Given the description of an element on the screen output the (x, y) to click on. 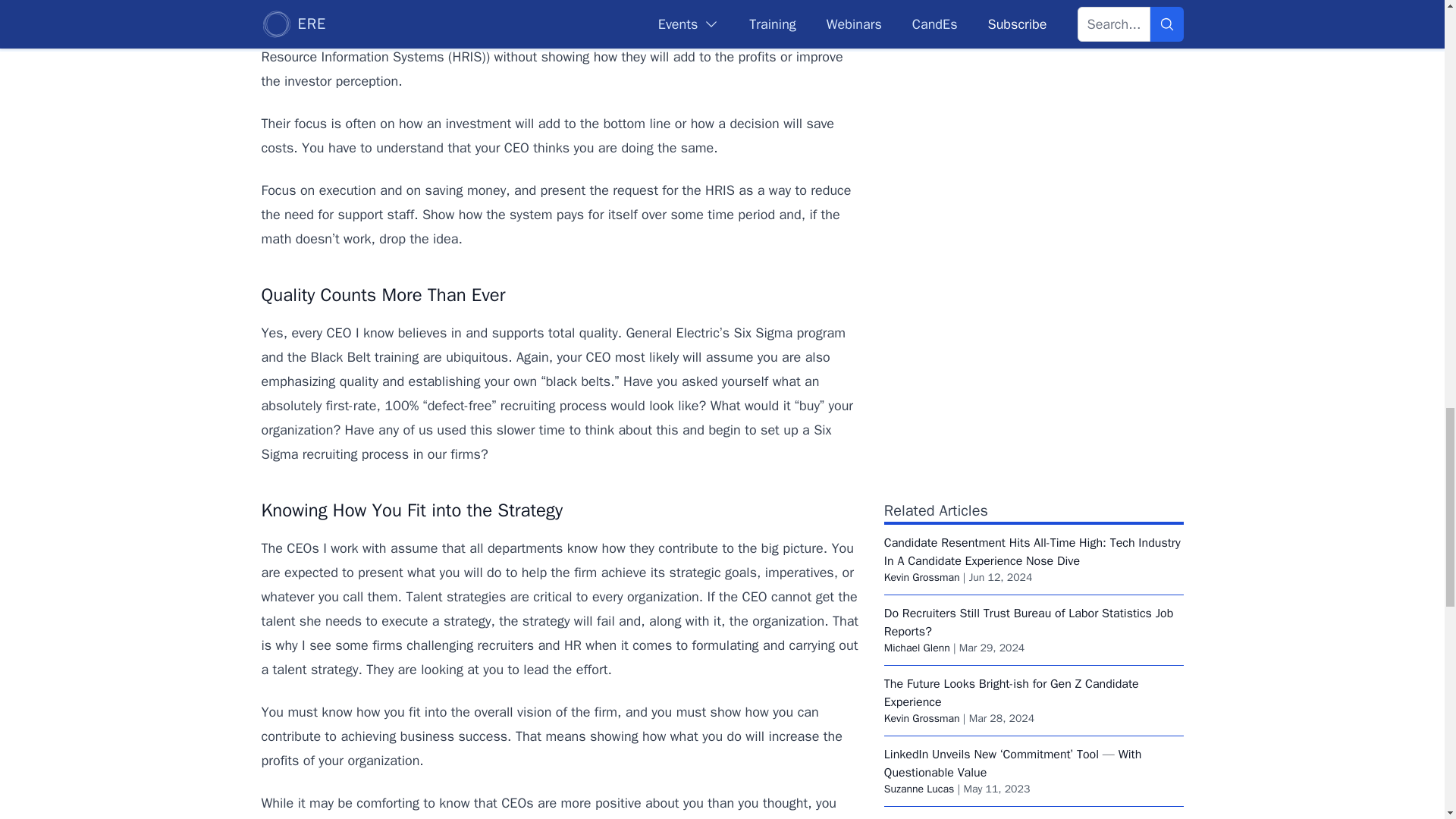
Kevin Grossman (921, 717)
Michael Glenn (916, 647)
3rd party ad content (1033, 28)
The Future Looks Bright-ish for Gen Z Candidate Experience (1010, 693)
Suzanne Lucas (919, 788)
Kevin Grossman (921, 576)
